Given the description of an element on the screen output the (x, y) to click on. 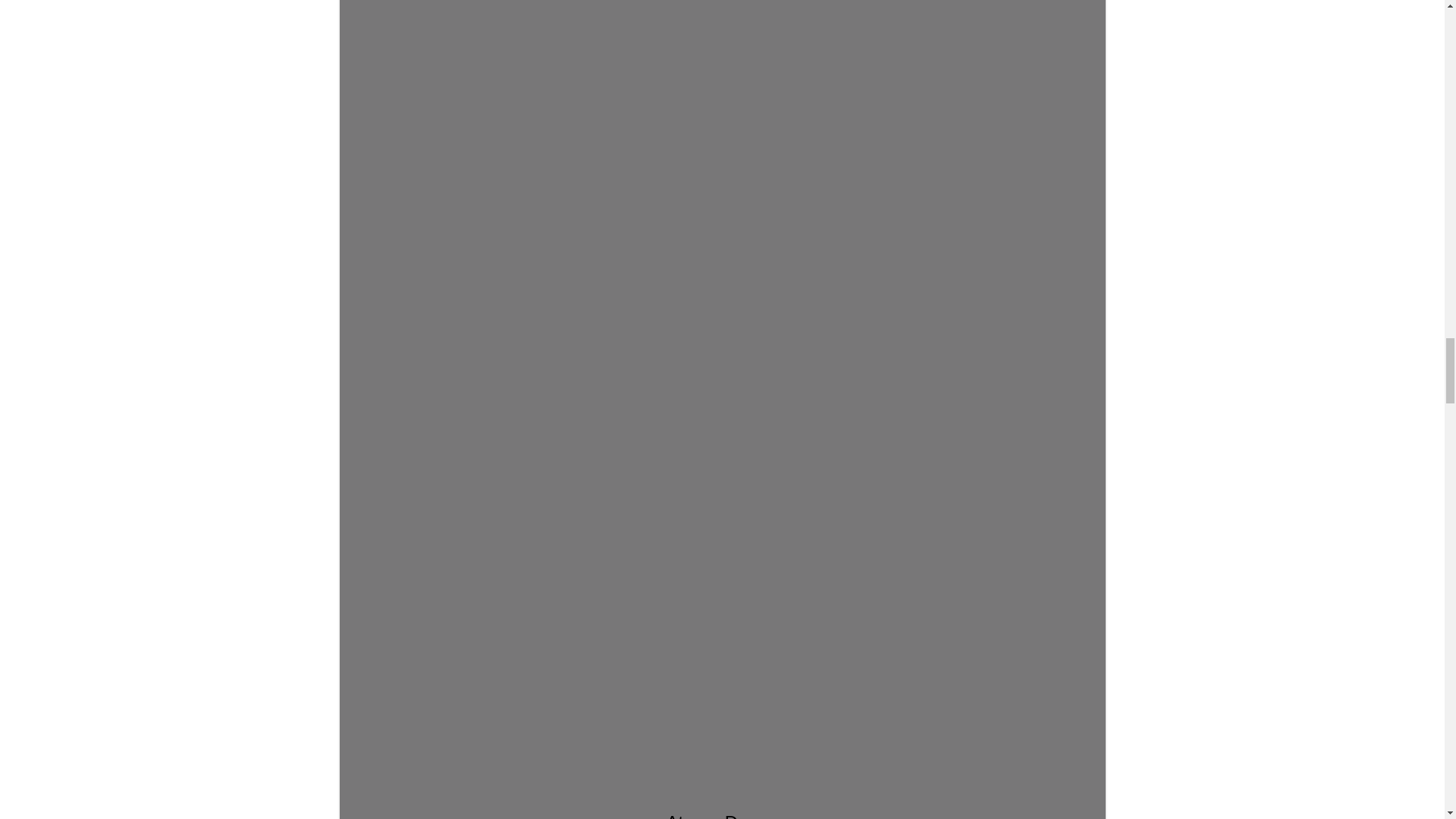
Atanur Dogan (722, 416)
